Given the description of an element on the screen output the (x, y) to click on. 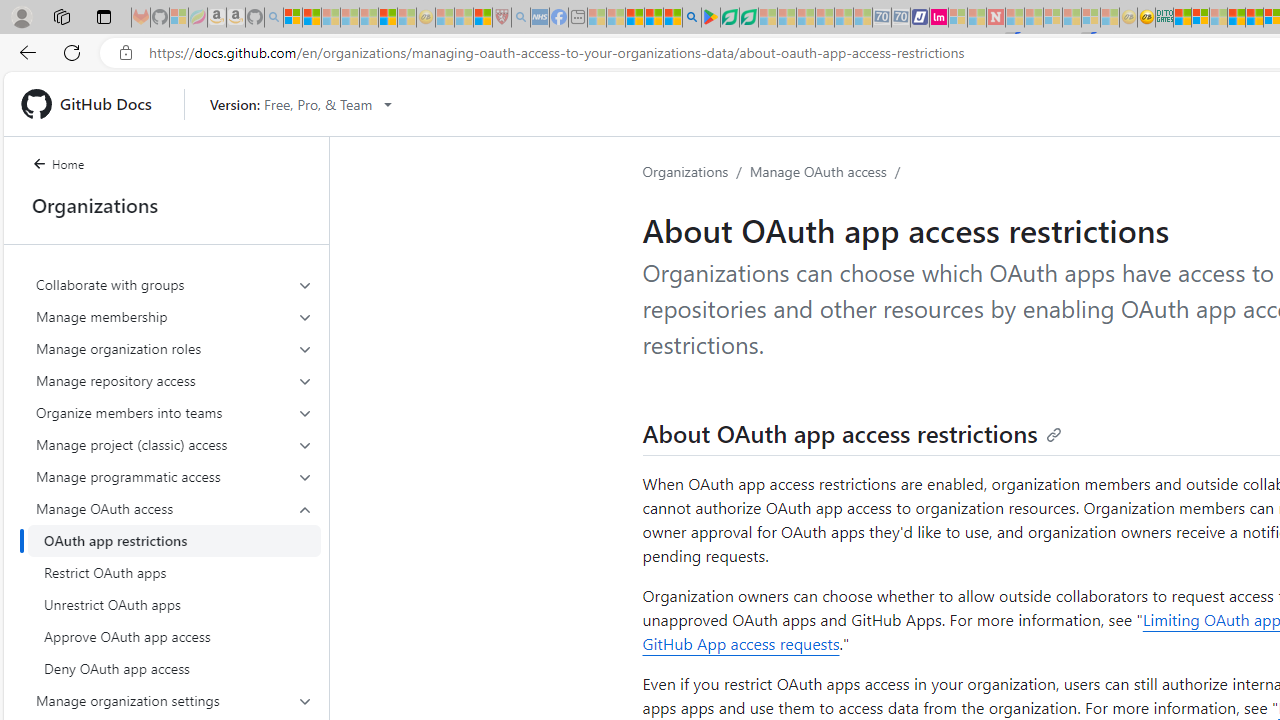
Unrestrict OAuth apps (174, 604)
Manage repository access (174, 380)
Microsoft Word - consumer-privacy address update 2.2021 (748, 17)
Organizations/ (696, 171)
Terms of Use Agreement (729, 17)
